Given the description of an element on the screen output the (x, y) to click on. 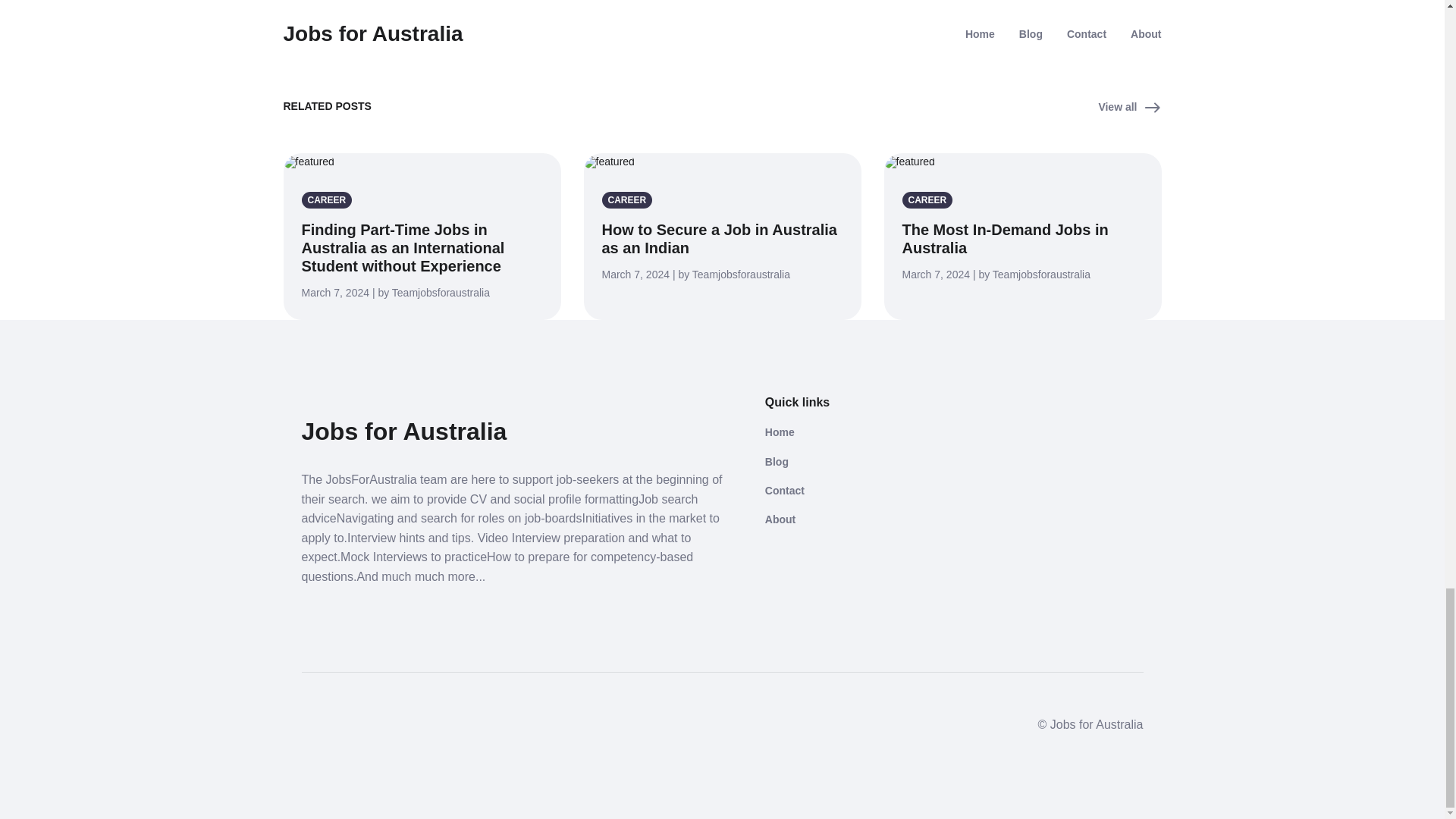
Contact (850, 490)
CAREER (329, 199)
Blog (850, 461)
About (850, 519)
CAREER (630, 199)
How to Secure a Job in Australia as an Indian (719, 238)
The Most In-Demand Jobs in Australia (1005, 238)
View all (1128, 107)
CAREER (930, 199)
